Given the description of an element on the screen output the (x, y) to click on. 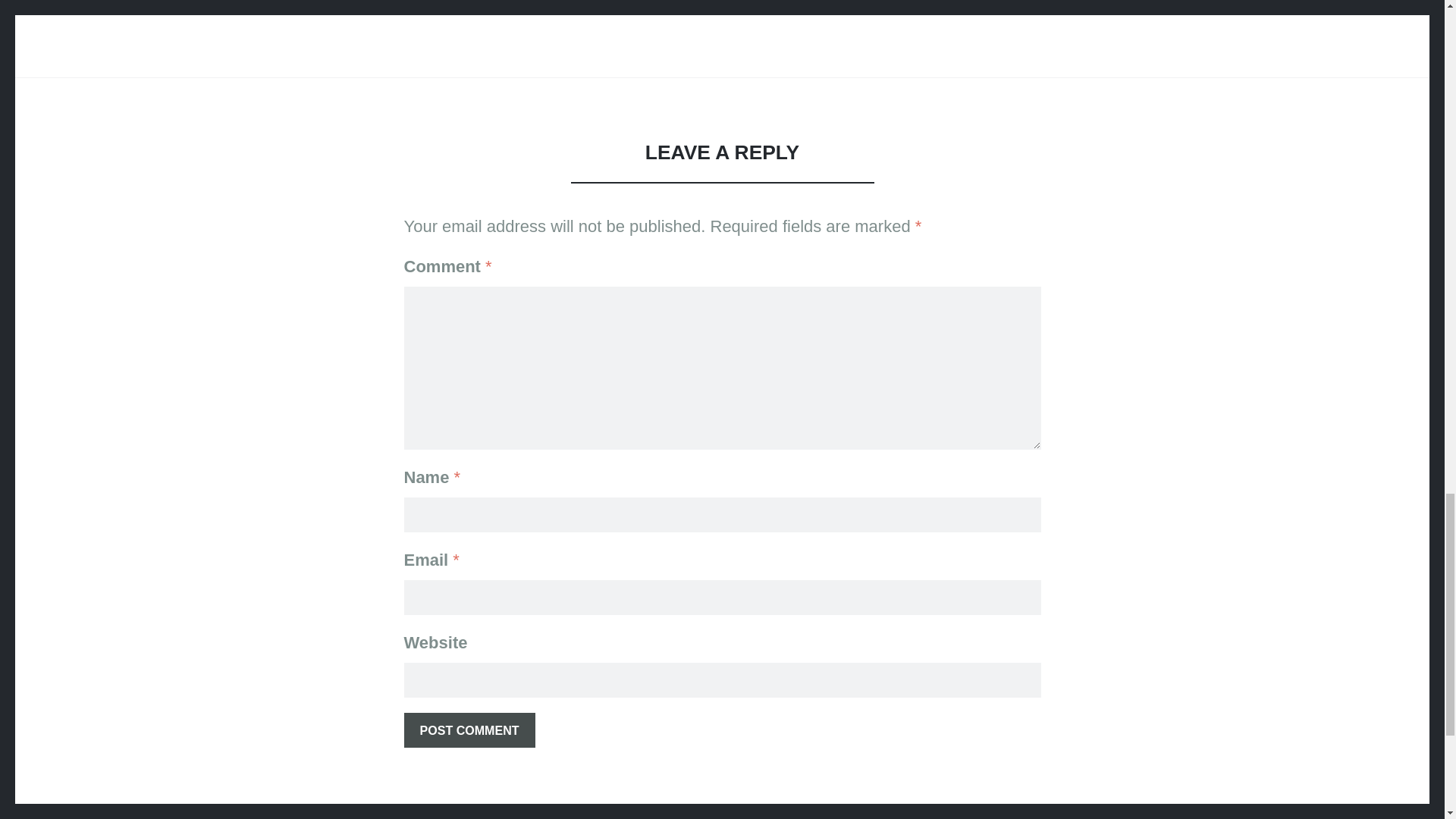
February 19, 2021 (674, 7)
Post Comment (468, 729)
Post Comment (468, 729)
Leave a comment (772, 7)
